Given the description of an element on the screen output the (x, y) to click on. 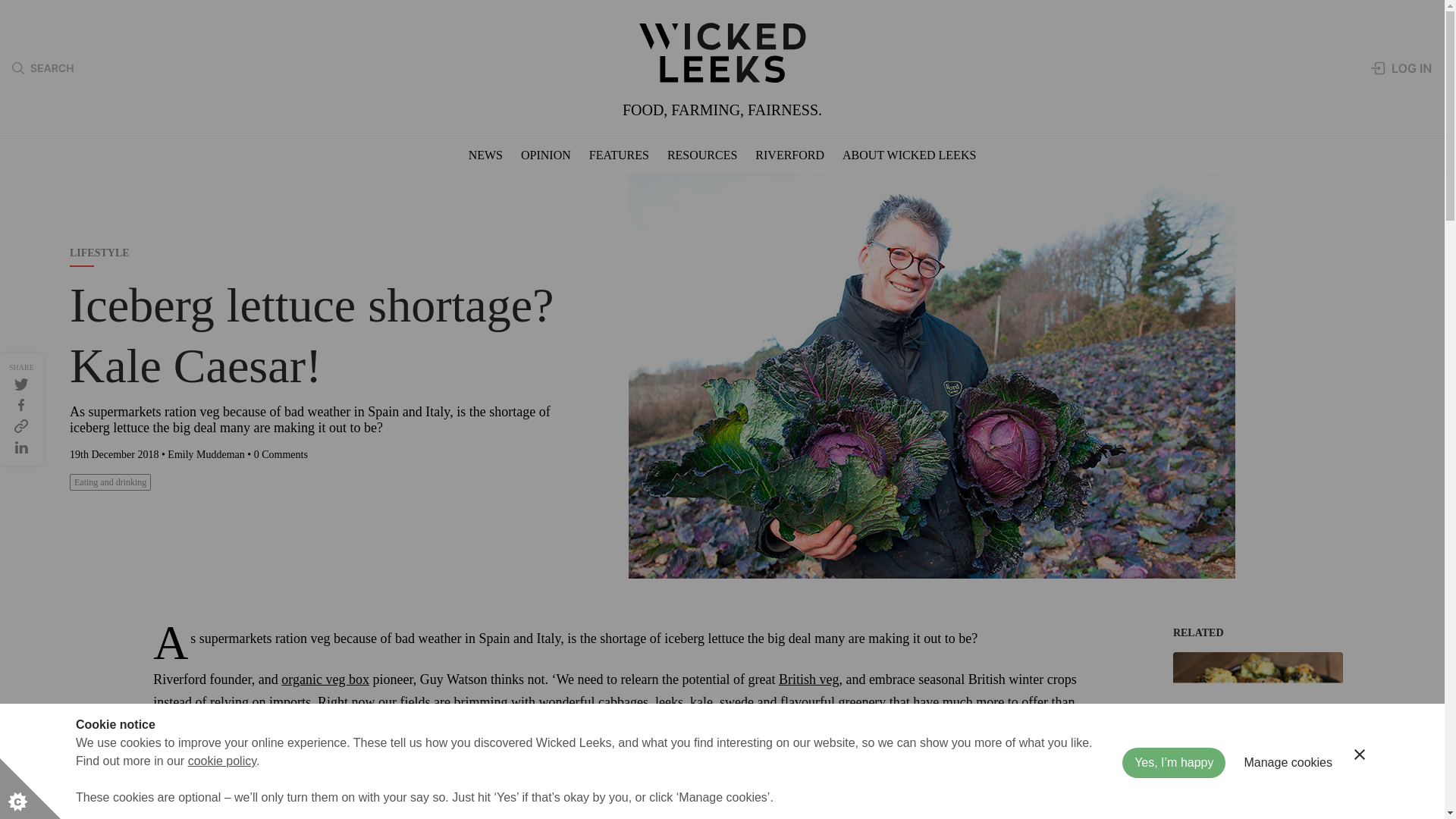
FEATURES (618, 155)
RESOURCES (701, 155)
Manage cookies (1287, 812)
Posts by Emily Muddeman (205, 454)
NEWS (486, 155)
RIVERFORD (788, 155)
OPINION (545, 155)
ABOUT WICKED LEEKS (908, 155)
